Given the description of an element on the screen output the (x, y) to click on. 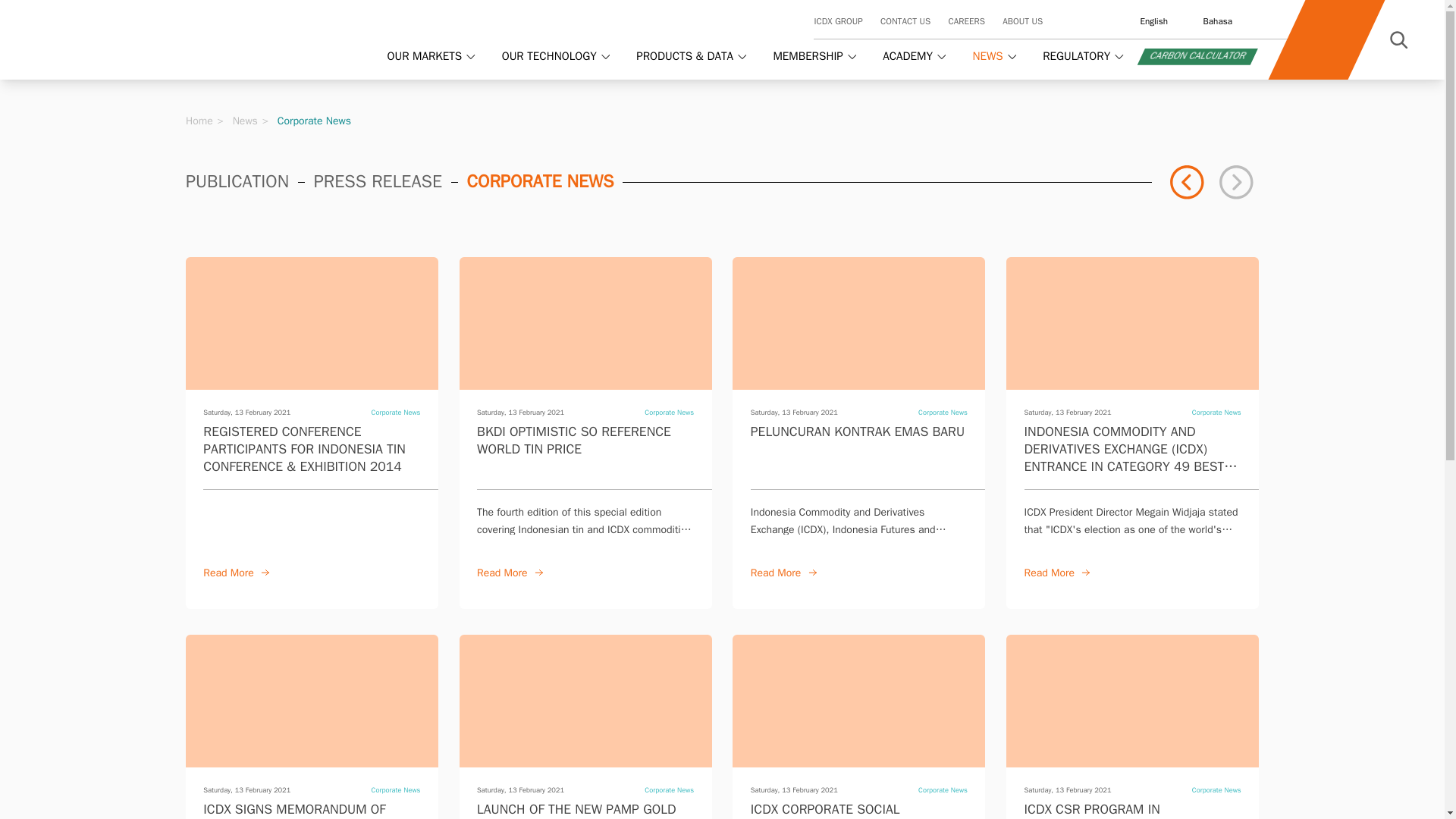
CARBON CALCULATOR (1193, 56)
ICDX GROUP (837, 21)
CONTACT US (905, 21)
PRESS RELEASE (378, 181)
CAREERS (965, 21)
ABOUT US (1022, 21)
CORPORATE NEWS (540, 181)
PUBLICATION (237, 181)
